Given the description of an element on the screen output the (x, y) to click on. 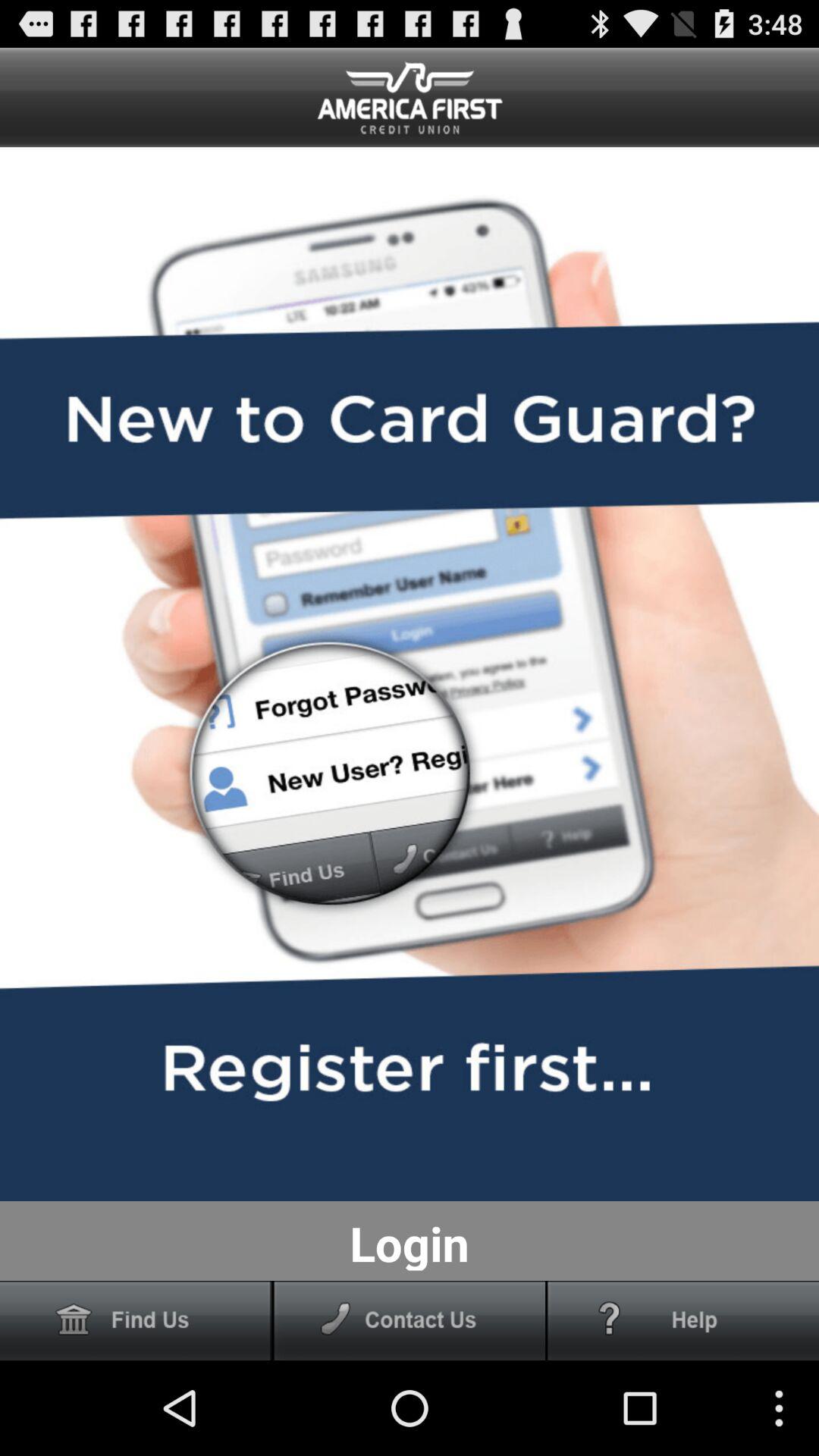
help button (683, 1320)
